Given the description of an element on the screen output the (x, y) to click on. 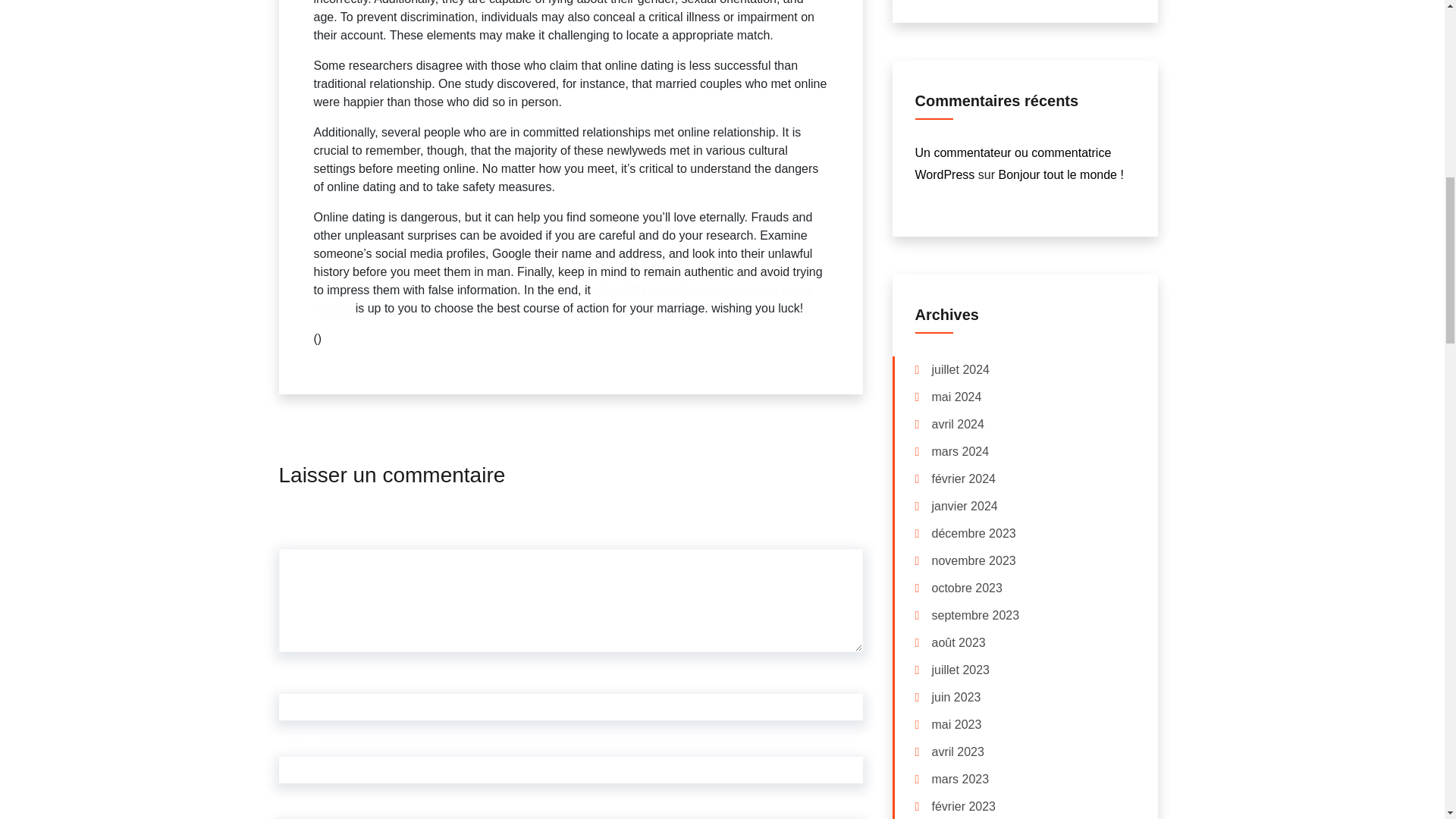
avril 2024 (957, 424)
avril 2023 (957, 751)
mai 2023 (956, 724)
juillet 2023 (960, 669)
octobre 2023 (966, 587)
Bonjour tout le monde ! (1059, 174)
mars 2024 (959, 452)
Un commentateur ou commentatrice WordPress (1012, 163)
septembre 2023 (975, 615)
mars 2023 (959, 779)
mai 2024 (956, 397)
janvier 2024 (964, 506)
juin 2023 (955, 697)
novembre 2023 (972, 560)
juillet 2024 (960, 370)
